Given the description of an element on the screen output the (x, y) to click on. 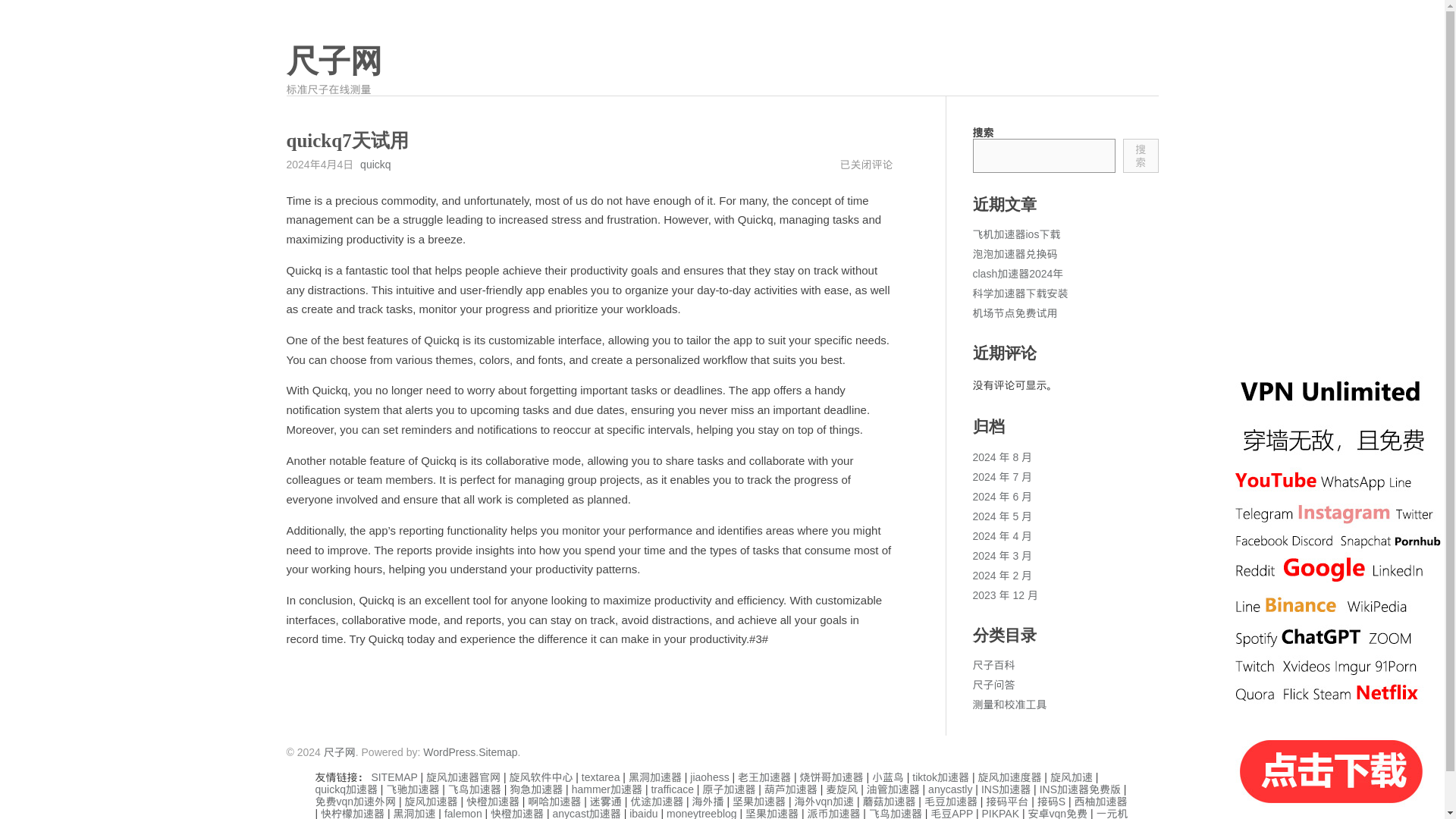
quickq (374, 164)
Sitemap (497, 752)
WordPress (449, 752)
textarea (600, 776)
SITEMAP (393, 776)
jiaohess (709, 776)
